Given the description of an element on the screen output the (x, y) to click on. 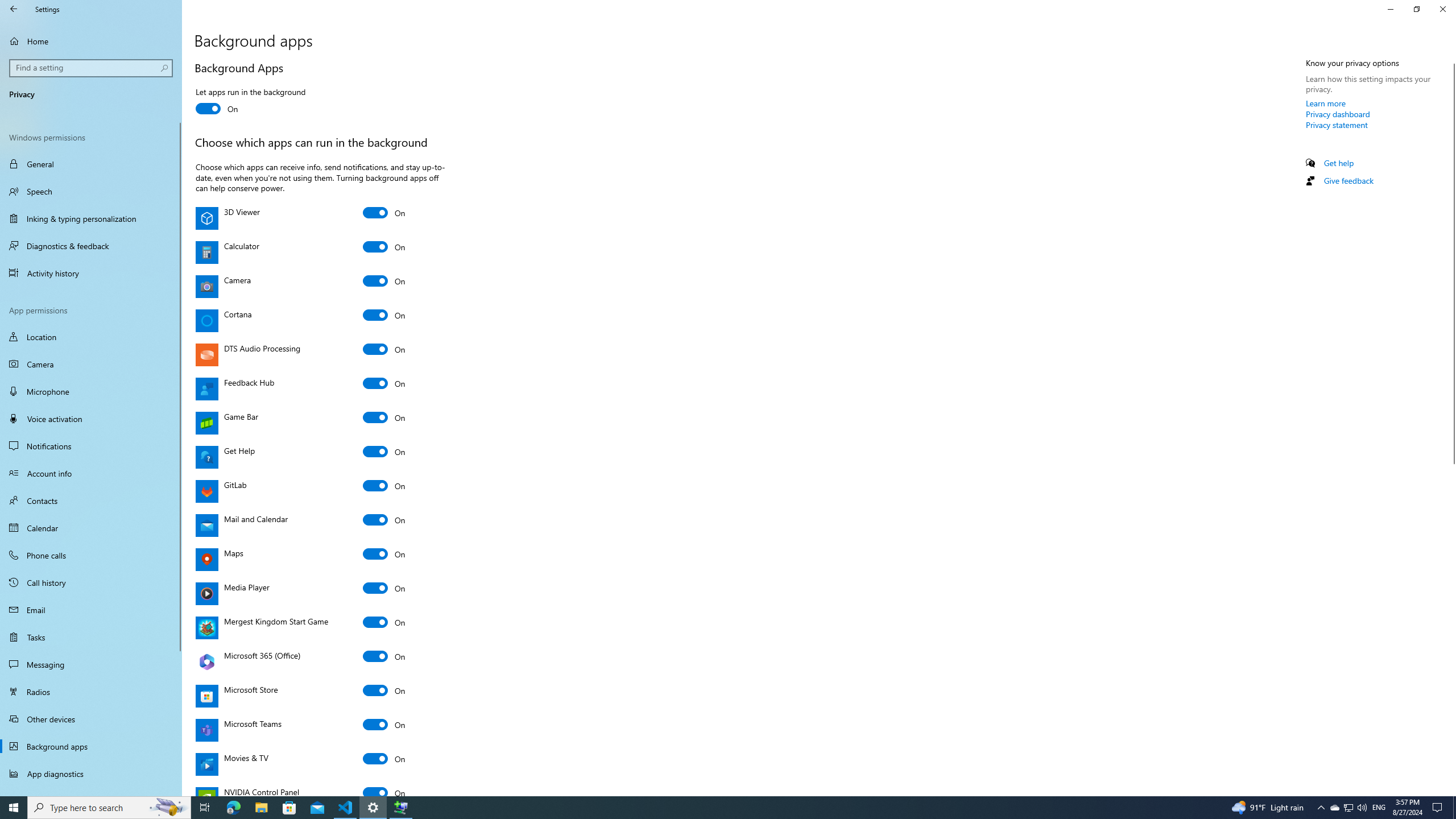
Q2790: 100% (1361, 807)
Visual Studio Code - 1 running window (345, 807)
Close Settings (1442, 9)
Other devices (91, 718)
Camera (384, 280)
Vertical Small Decrease (1451, 58)
Movies & TV (384, 758)
Background apps (91, 746)
Account info (91, 472)
Privacy dashboard (1338, 113)
Let apps run in the background (250, 101)
Radios (91, 691)
Running applications (706, 807)
Messaging (91, 664)
